Given the description of an element on the screen output the (x, y) to click on. 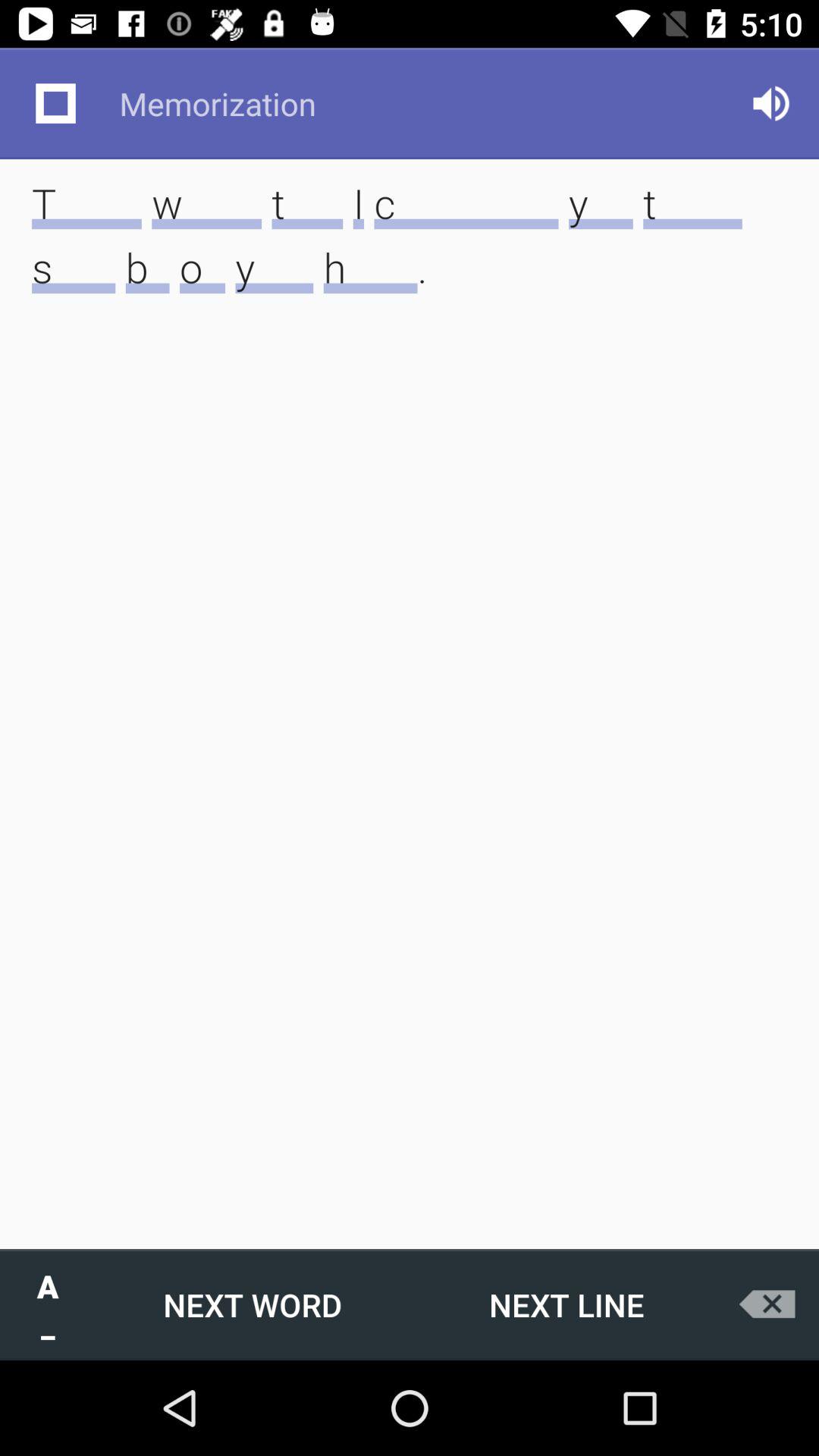
open the a
_ item (47, 1304)
